Given the description of an element on the screen output the (x, y) to click on. 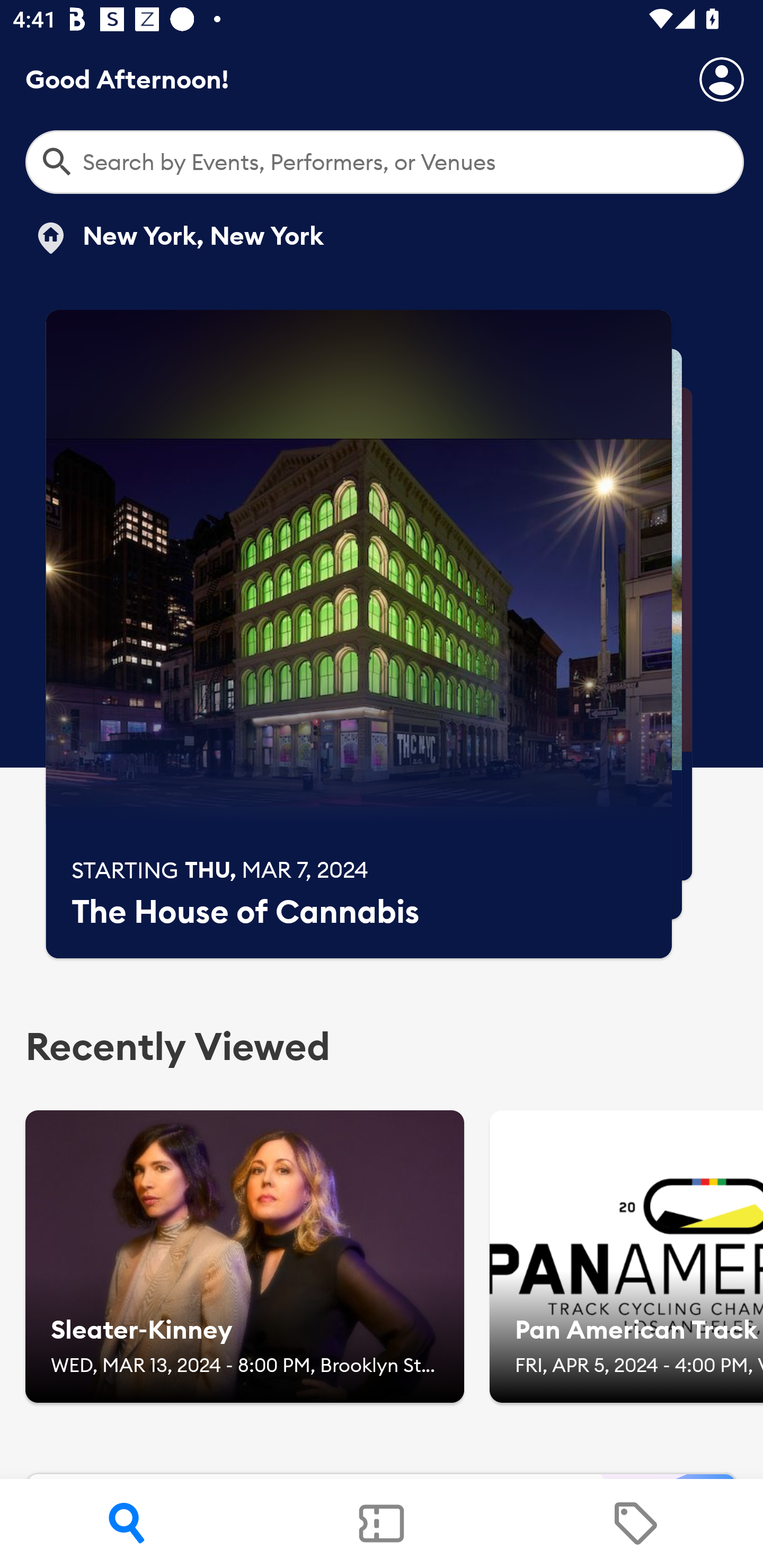
UserIcon (721, 78)
Search by Events, Performers, or Venues (384, 161)
New York, New York (177, 237)
STARTING THU, MAR 7, 2024 The House of Cannabis (358, 634)
Menu Item: Tickets (381, 1523)
Menu Item: Resale (635, 1523)
